Given the description of an element on the screen output the (x, y) to click on. 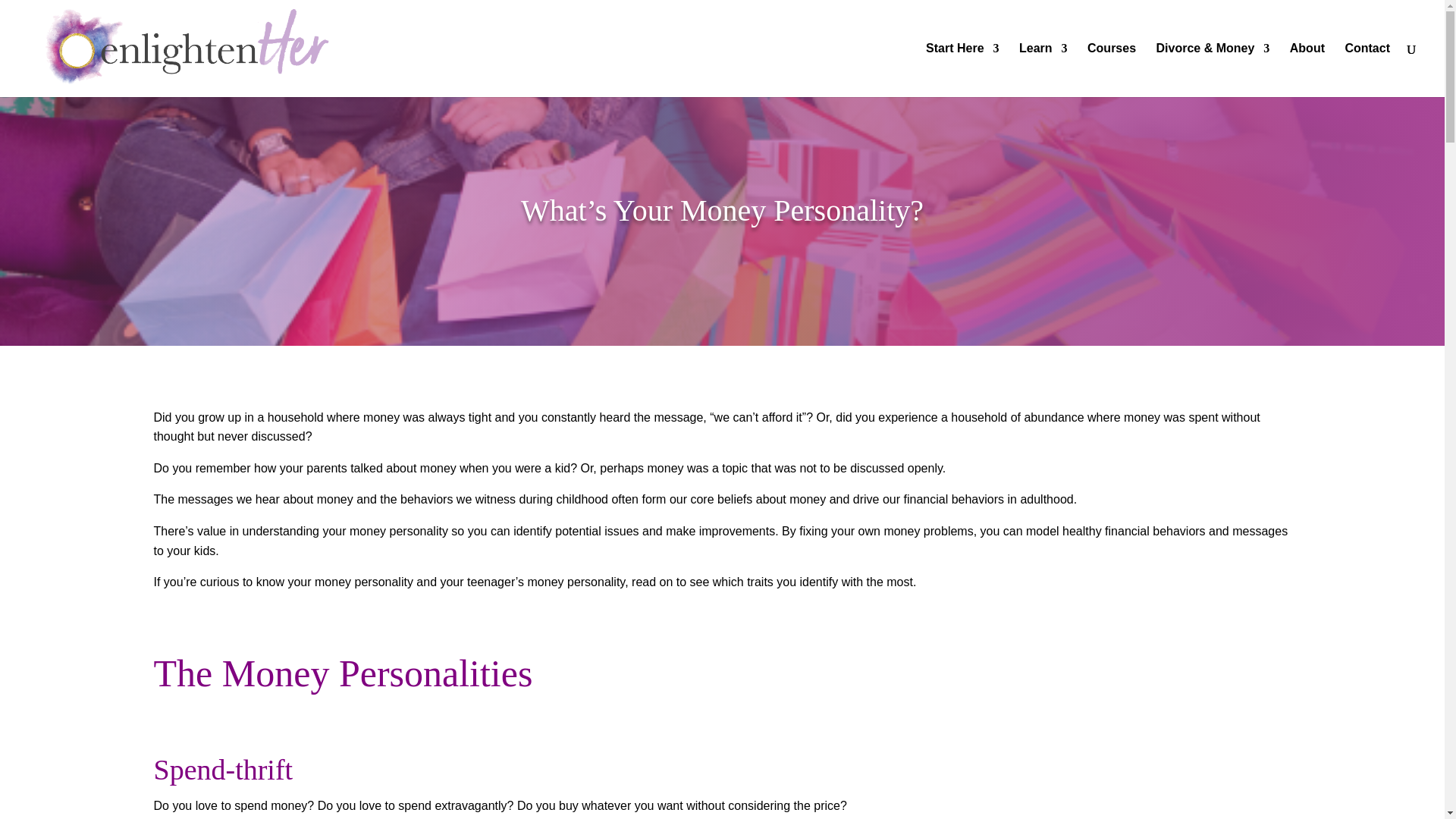
Learn (1043, 70)
Courses (1111, 70)
Start Here (962, 70)
